Given the description of an element on the screen output the (x, y) to click on. 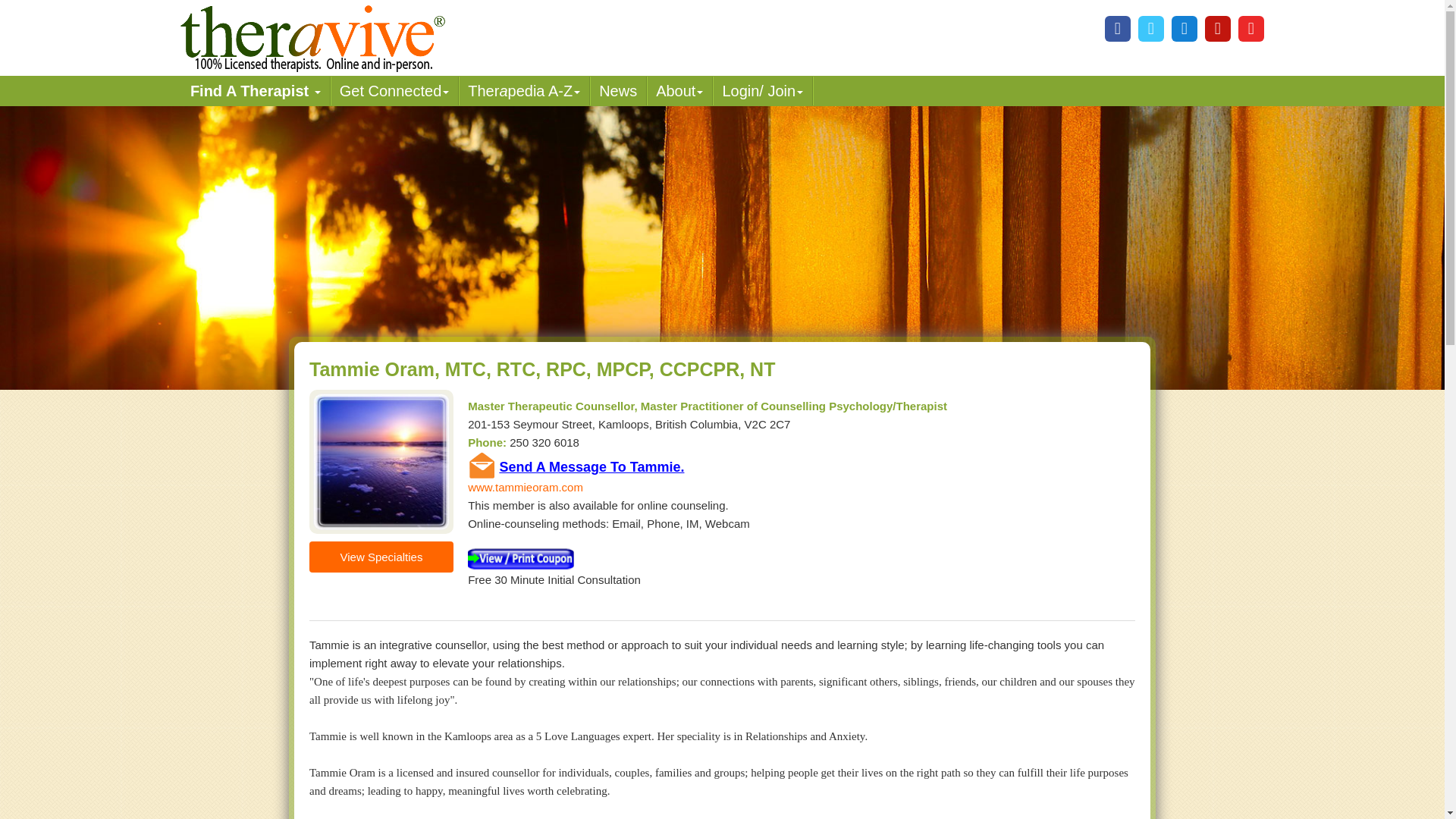
Theravive Facebook (1118, 28)
News (617, 90)
Email Me (481, 465)
Get Connected (395, 90)
Pinterest (1217, 28)
News and Culture The Lens of Psychology (617, 90)
Theravive Youtube (1251, 28)
www.tammieoram.com (525, 486)
Workshops, Events and Local Resources (395, 90)
All things psychology and mental health (523, 90)
About (679, 90)
Find A Therapist (255, 90)
Theravive on Twitter (1150, 28)
Therapedia A-Z (523, 90)
LinkedIn (1184, 28)
